Given the description of an element on the screen output the (x, y) to click on. 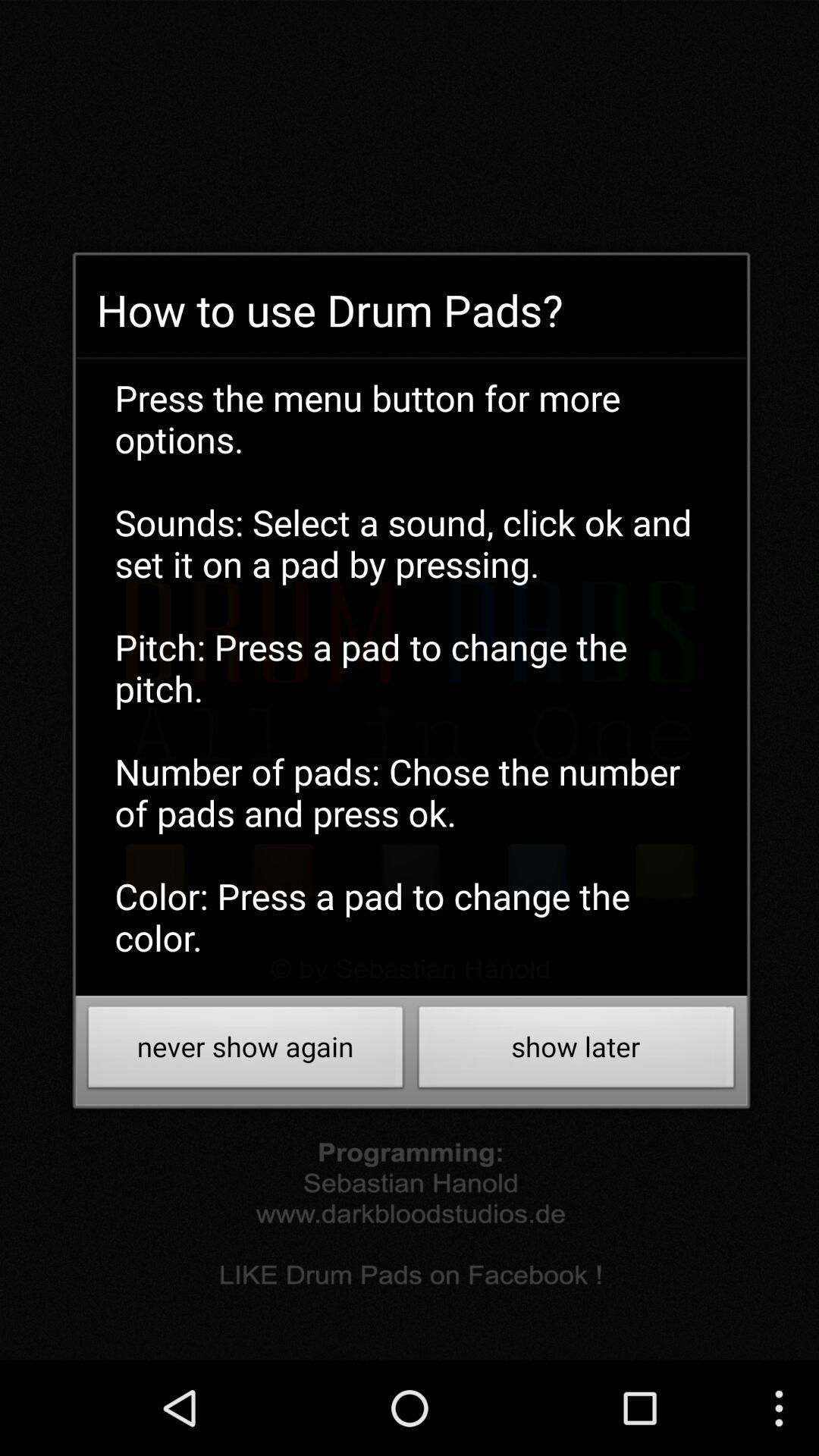
flip until show later button (576, 1051)
